Given the description of an element on the screen output the (x, y) to click on. 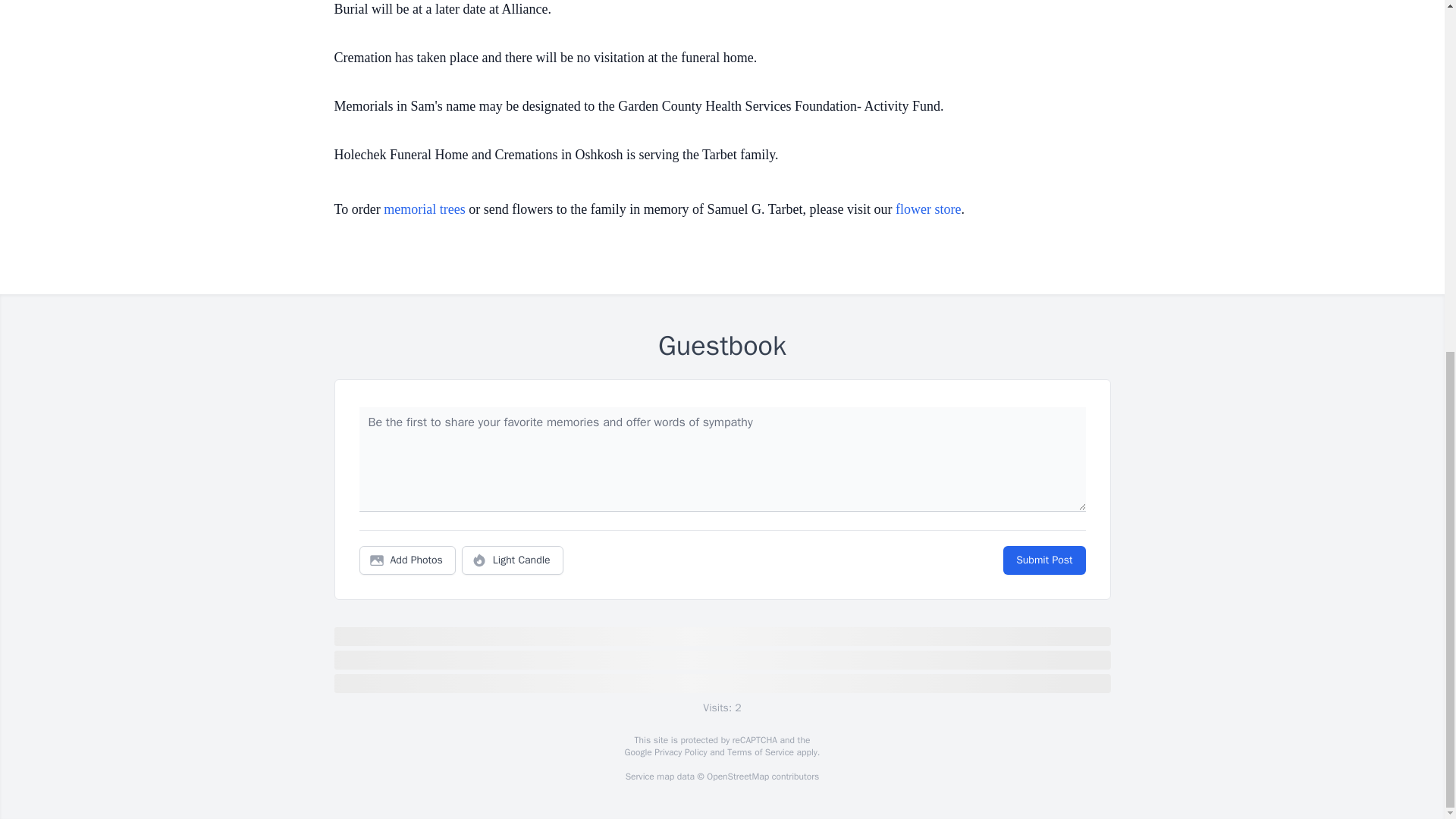
Terms of Service (759, 752)
OpenStreetMap (737, 776)
Add Photos (407, 560)
flower store (927, 209)
Submit Post (1043, 560)
Privacy Policy (679, 752)
Light Candle (512, 560)
memorial trees (424, 209)
